Given the description of an element on the screen output the (x, y) to click on. 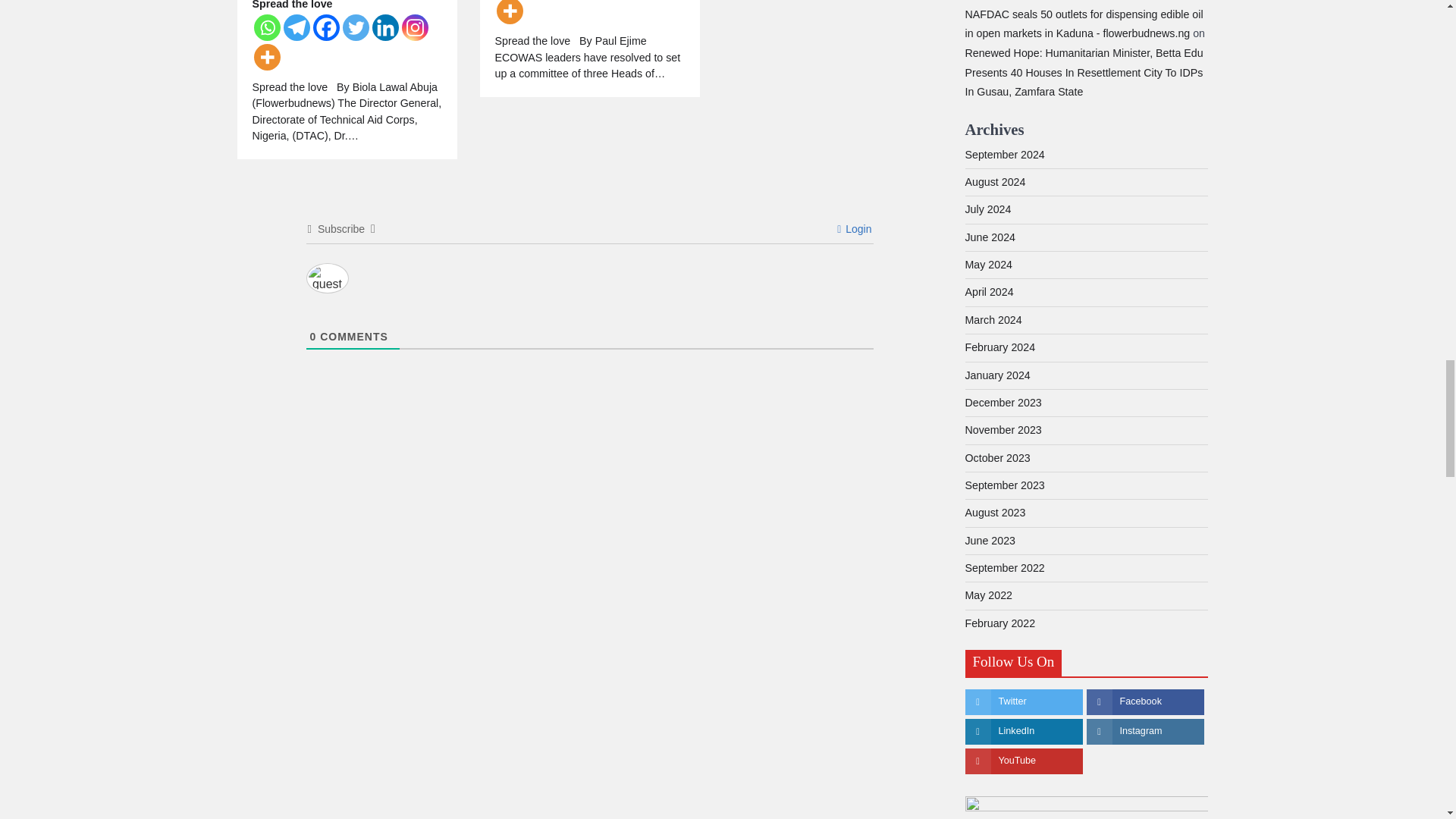
Twitter (355, 27)
Instagram (414, 27)
Facebook (326, 27)
More (266, 57)
Linkedin (384, 27)
Whatsapp (266, 27)
Telegram (296, 27)
